Given the description of an element on the screen output the (x, y) to click on. 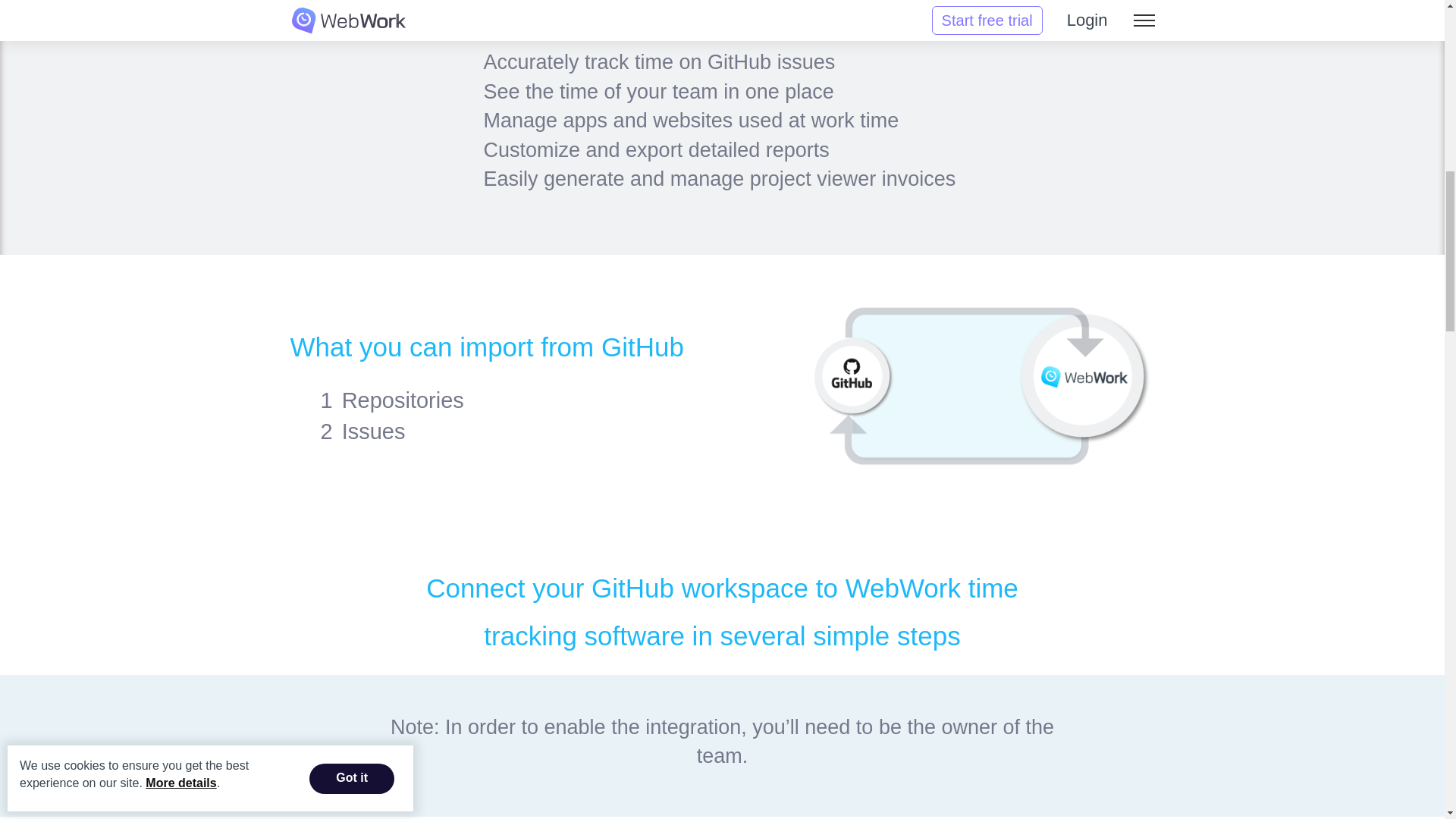
Import data from GitHub (981, 386)
